Given the description of an element on the screen output the (x, y) to click on. 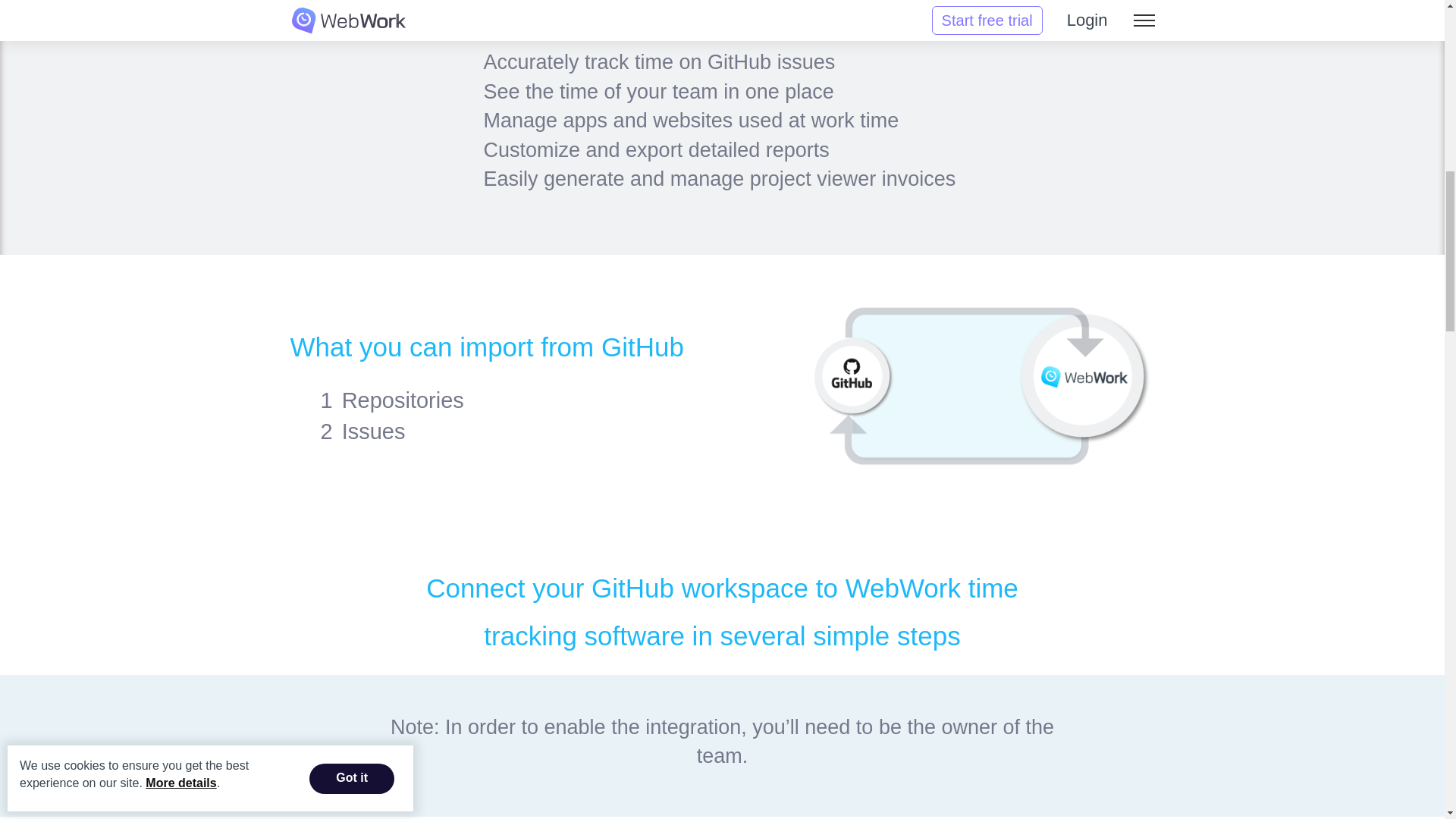
Import data from GitHub (981, 386)
